Given the description of an element on the screen output the (x, y) to click on. 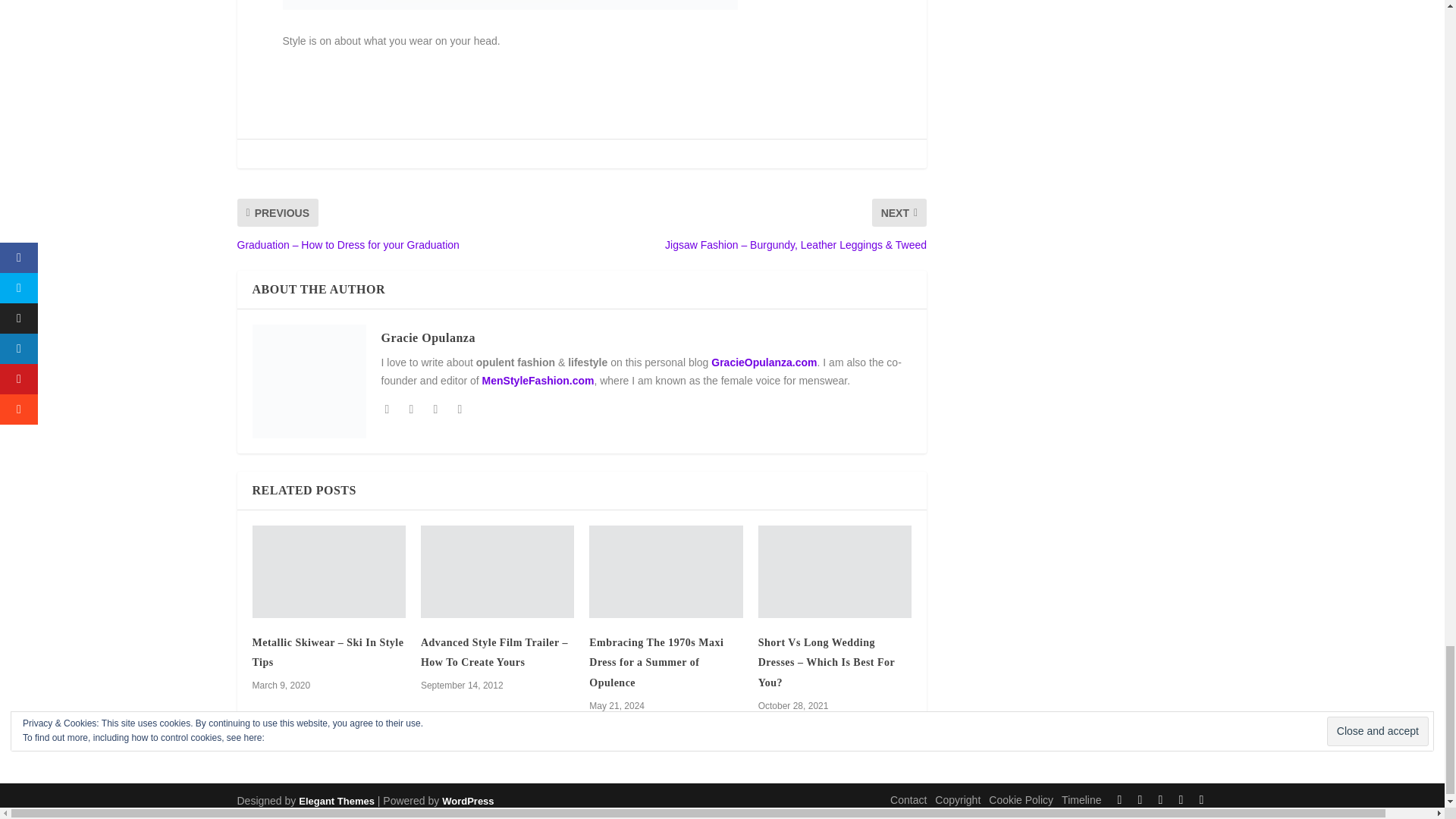
View all posts by Gracie Opulanza (427, 337)
Embracing The 1970s Maxi Dress for a Summer of Opulence (665, 571)
